Given the description of an element on the screen output the (x, y) to click on. 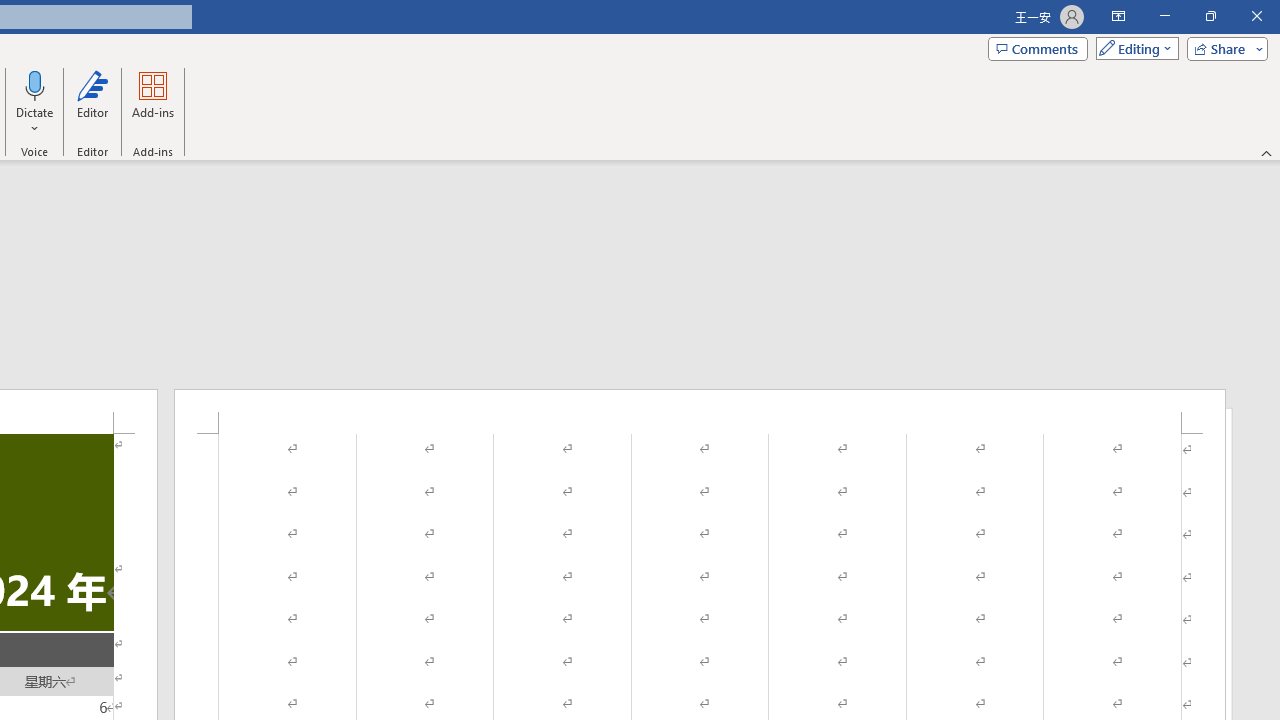
Comments (1038, 48)
Close (1256, 16)
Editor (92, 102)
Ribbon Display Options (1118, 16)
Restore Down (1210, 16)
Share (1223, 48)
Dictate (35, 84)
Mode (1133, 47)
Dictate (35, 102)
Header -Section 1- (700, 411)
Minimize (1164, 16)
